Given the description of an element on the screen output the (x, y) to click on. 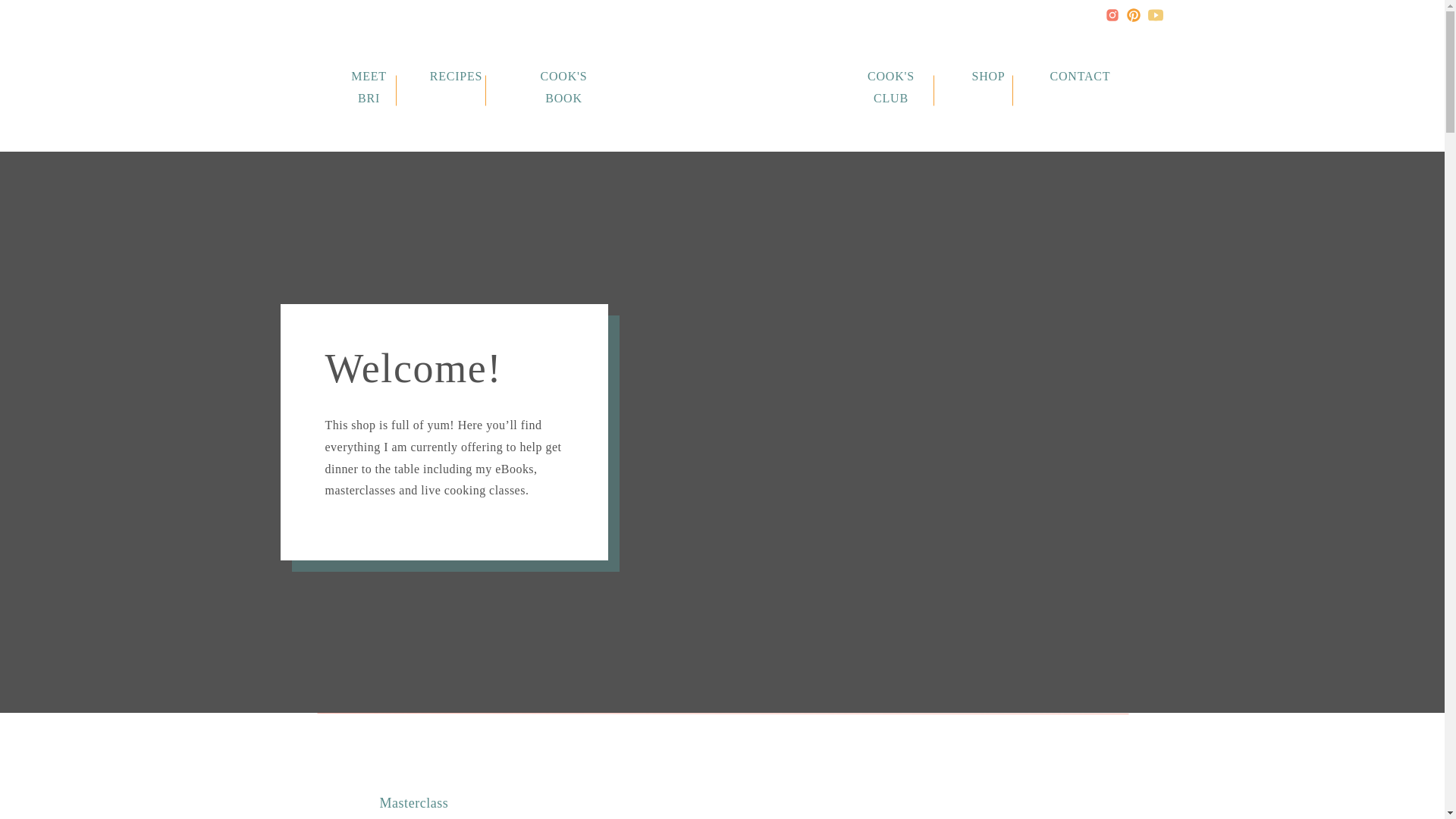
COOK'S BOOK (563, 75)
MEET BRI (368, 75)
COOK'S CLUB (889, 75)
RECIPES (456, 75)
SHOP (988, 75)
CONTACT (1076, 75)
